Given the description of an element on the screen output the (x, y) to click on. 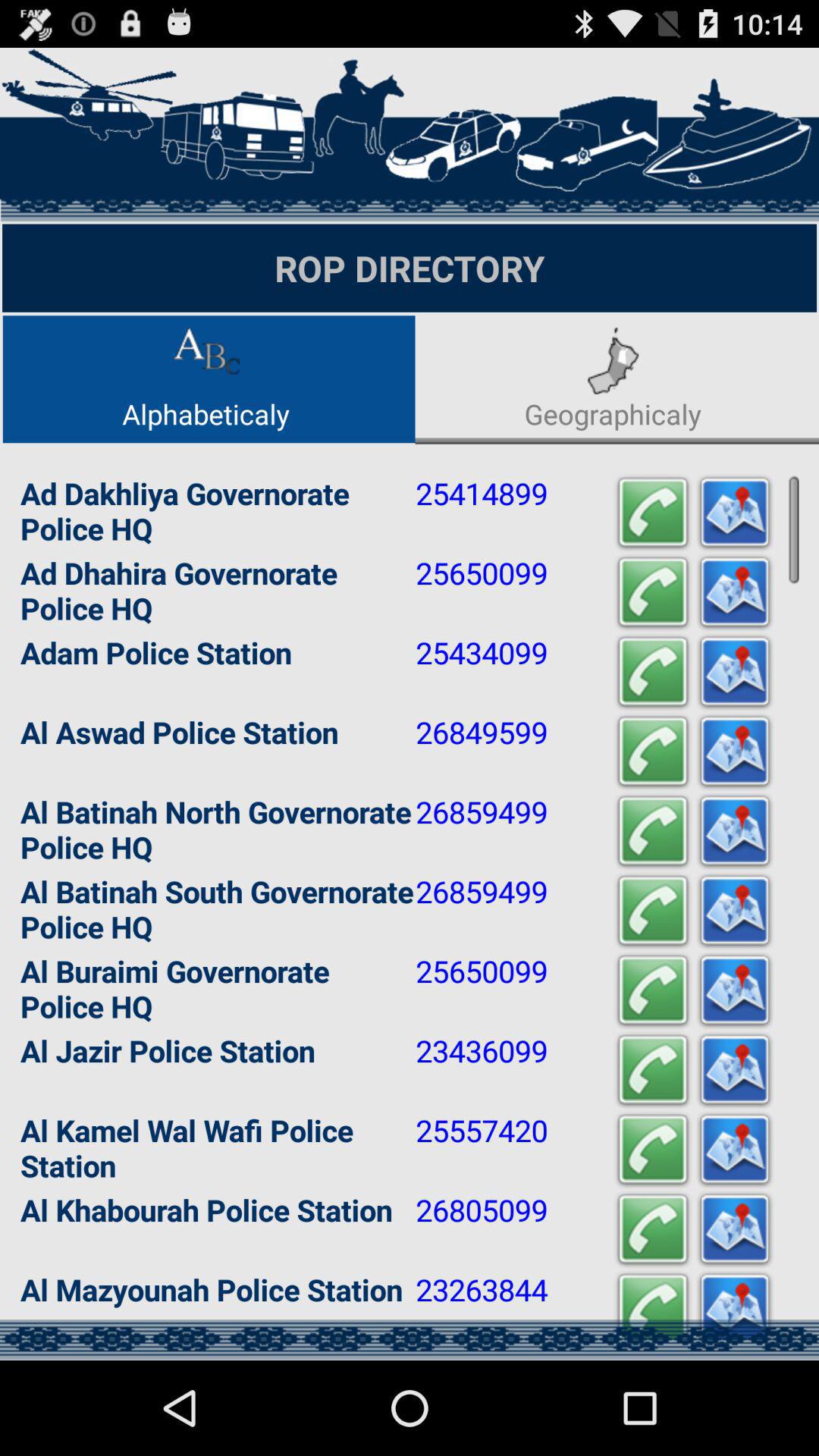
choose icon to the right of 25434099 app (652, 672)
